Given the description of an element on the screen output the (x, y) to click on. 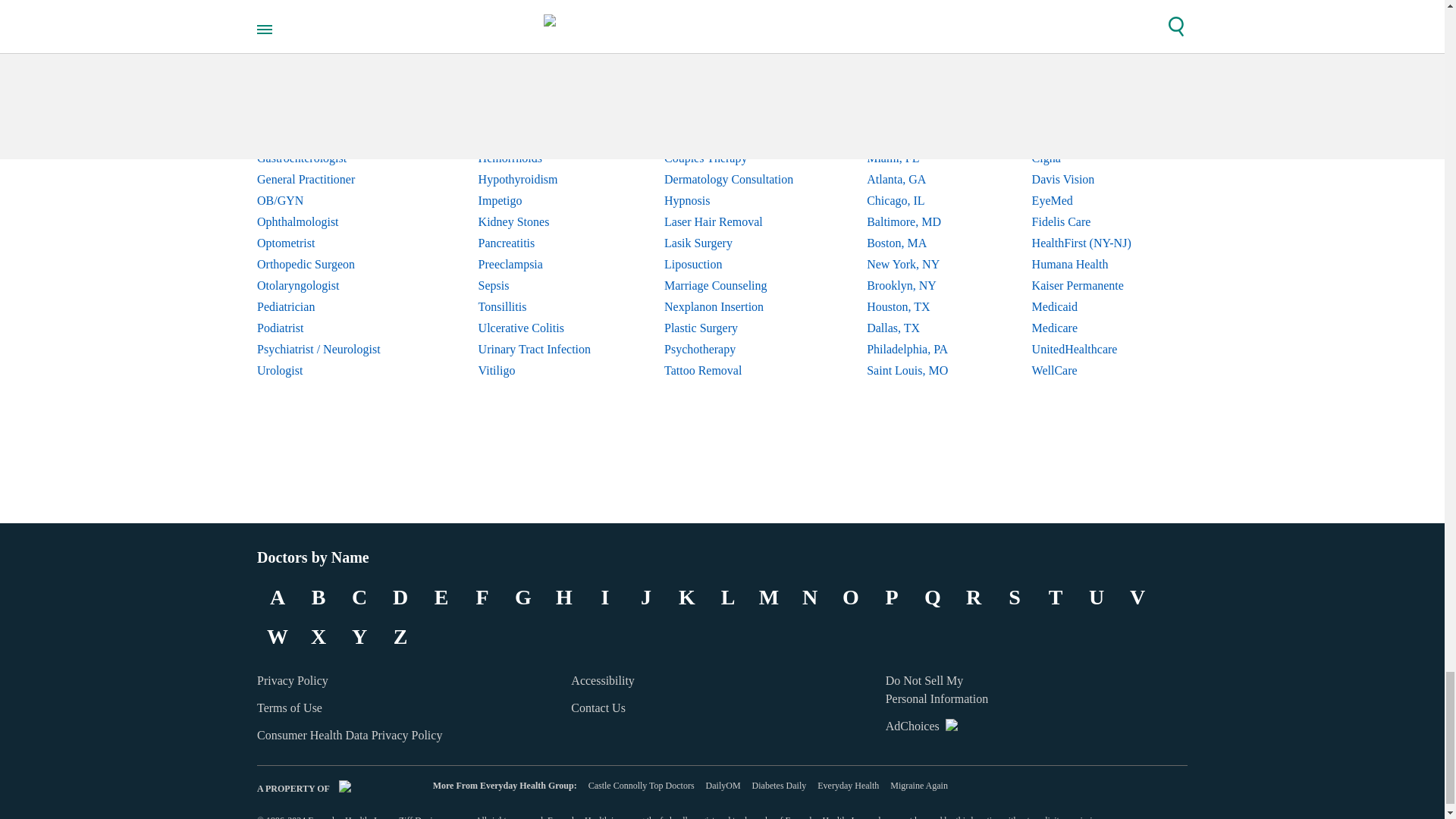
Podiatrist (330, 328)
Impetigo (535, 200)
Kidney Stones (535, 221)
Optometrist (330, 242)
Cold Sores (535, 94)
Carpal Tunnel (535, 73)
Pancreatitis (535, 242)
Addiction Medicine Specialist (330, 73)
Preeclampsia (535, 264)
Fibromyalgia (535, 137)
